Given the description of an element on the screen output the (x, y) to click on. 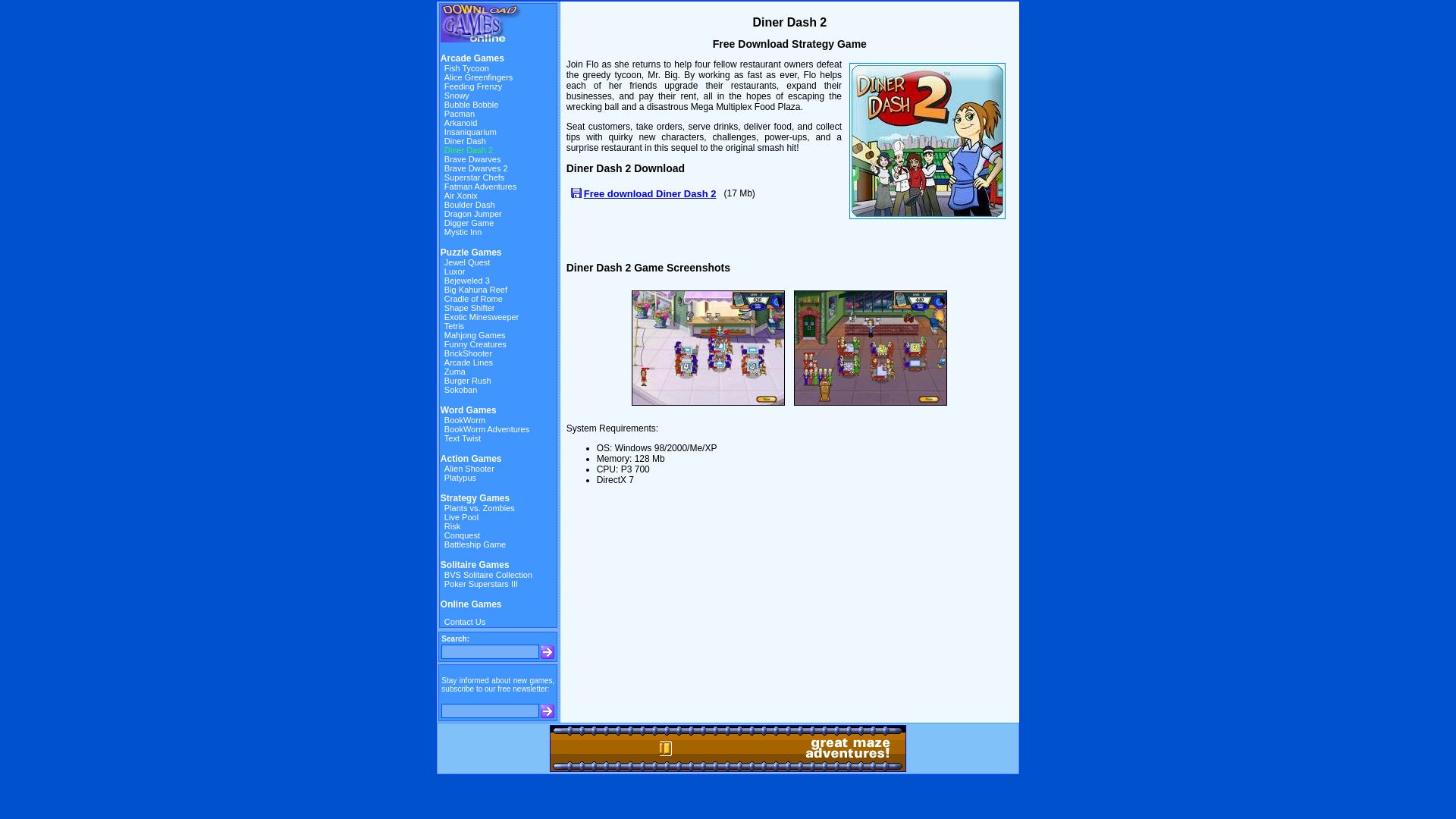
Alice Greenfingers (478, 76)
Funny Creatures (475, 343)
Arcade Games (472, 58)
Snowy (456, 94)
Fatman Adventures (480, 185)
Arkanoid (460, 122)
Diner Dash 2 (468, 149)
Exotic Minesweeper (481, 316)
BookWorm (464, 420)
Free download Diner Dash 2 (644, 193)
Tetris (454, 325)
Brave Dwarves 2 (476, 167)
Diner Dash (465, 140)
Feeding Frenzy (473, 85)
Cradle of Rome (473, 298)
